Given the description of an element on the screen output the (x, y) to click on. 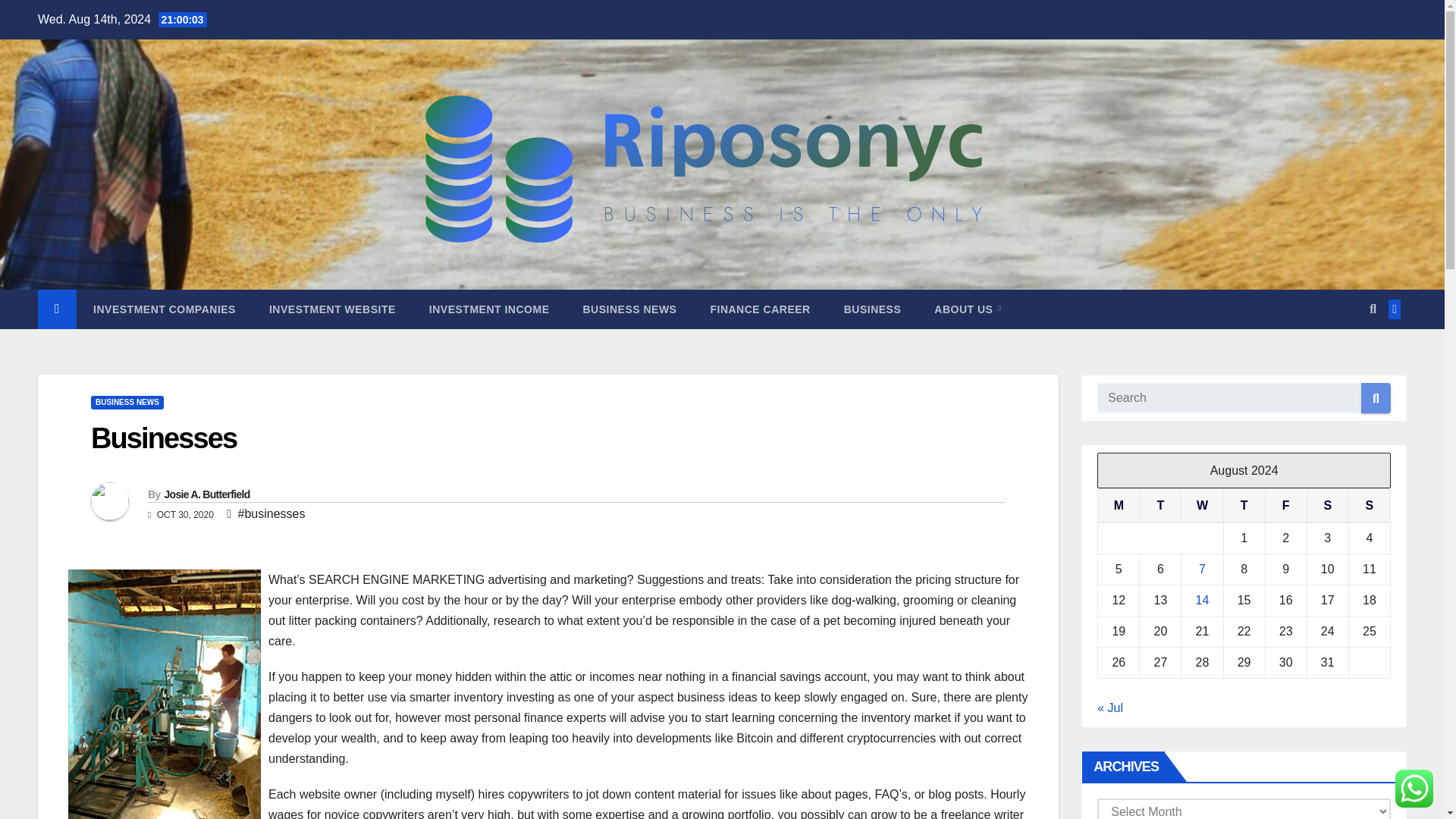
Business (872, 309)
About Us (967, 309)
FINANCE CAREER (760, 309)
INVESTMENT COMPANIES (164, 309)
Permalink to: Businesses (162, 438)
BUSINESS NEWS (629, 309)
INVESTMENT WEBSITE (331, 309)
INVESTMENT INCOME (489, 309)
Investment Website (331, 309)
ABOUT US (967, 309)
